Given the description of an element on the screen output the (x, y) to click on. 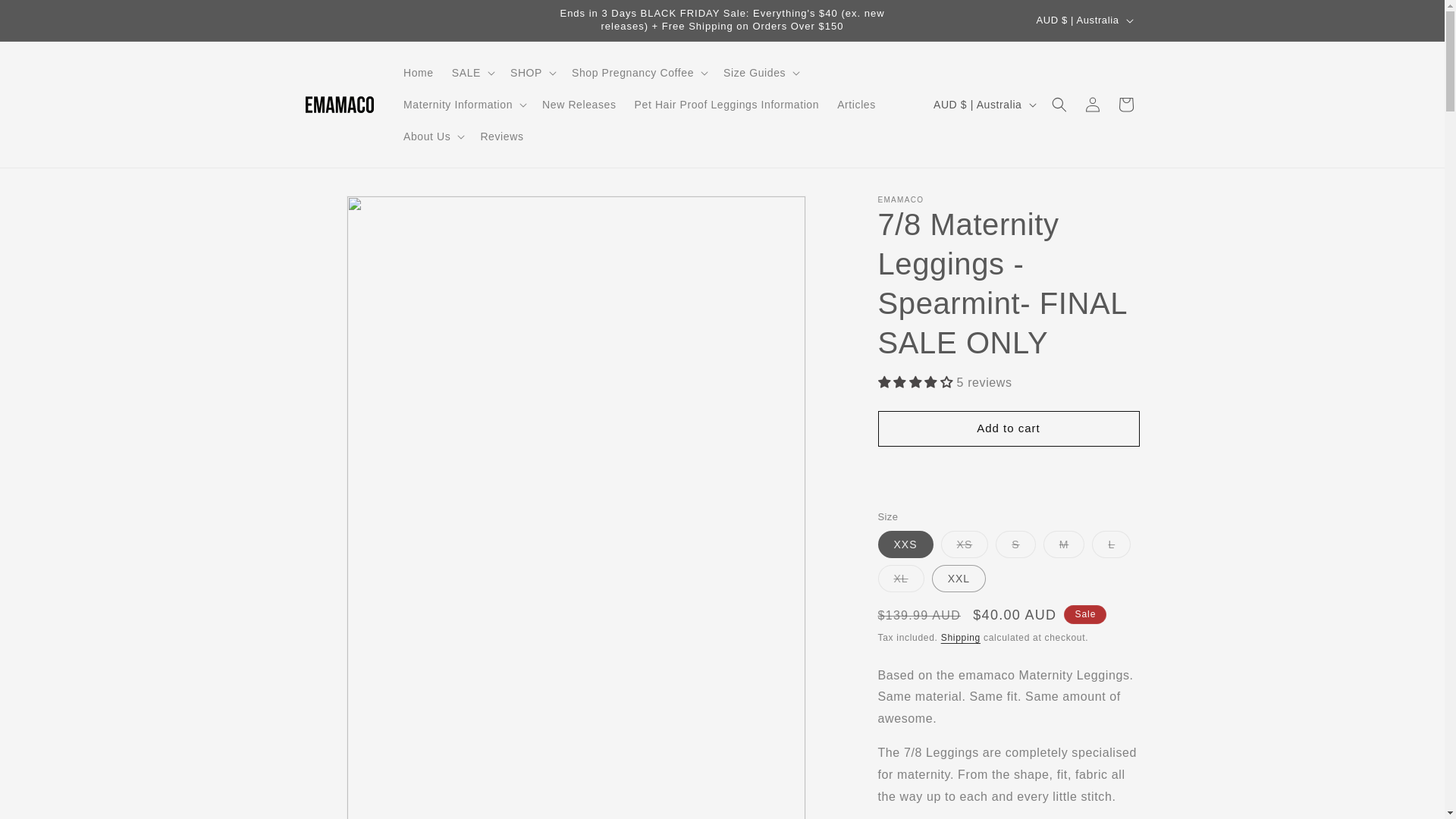
Cart Element type: text (1125, 104)
Articles Element type: text (856, 104)
AUD $ | Australia Element type: text (1083, 20)
Pet Hair Proof Leggings Information Element type: text (726, 104)
AUD $ | Australia Element type: text (983, 104)
Reviews Element type: text (501, 136)
Skip to product information Element type: text (350, 212)
New Releases Element type: text (578, 104)
Add to cart Element type: text (1008, 428)
Shipping Element type: text (960, 637)
Home Element type: text (418, 72)
Log in Element type: text (1091, 104)
